Given the description of an element on the screen output the (x, y) to click on. 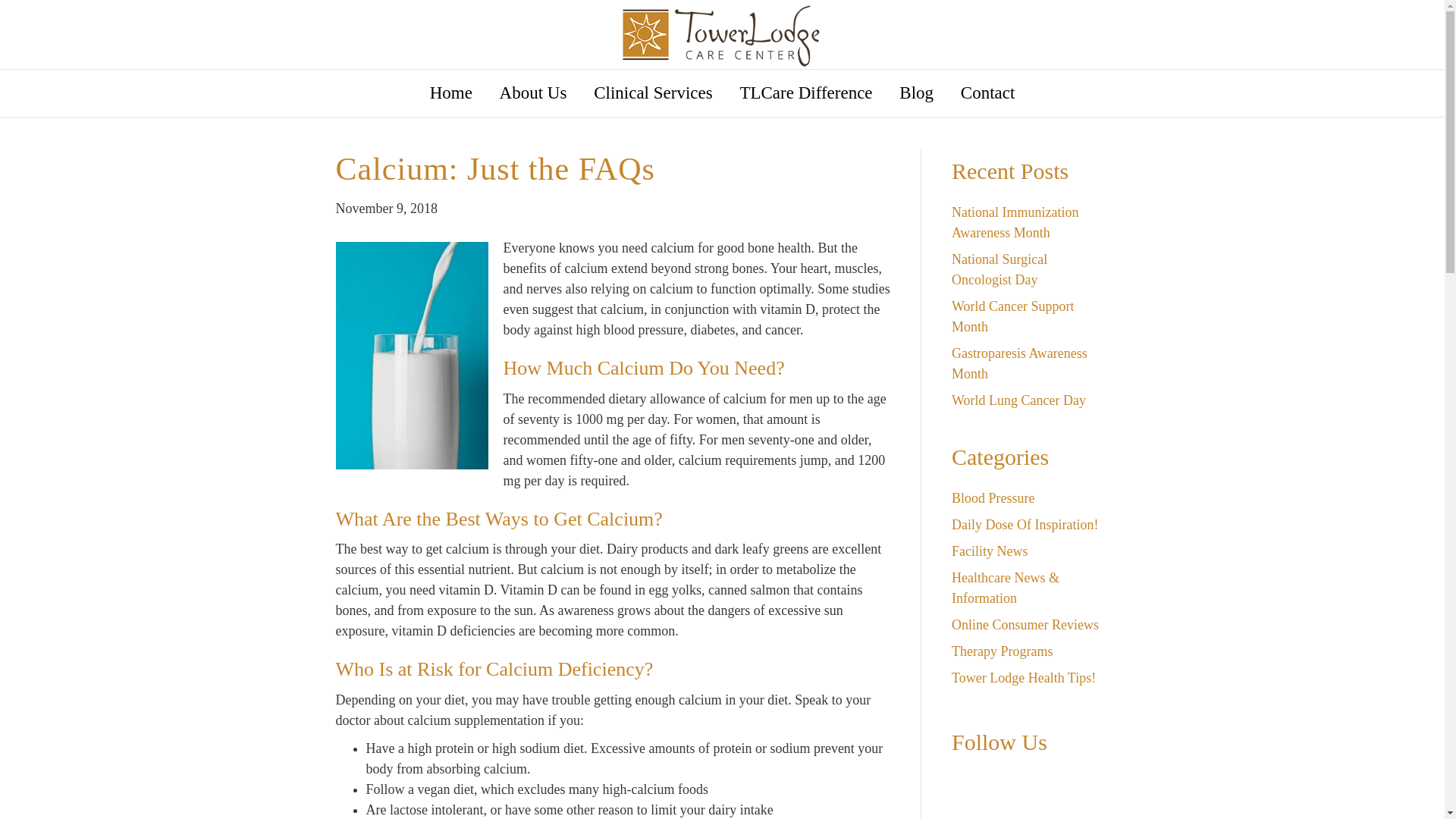
Contact (987, 93)
Blog (916, 93)
About Us (532, 93)
Home (451, 93)
TLCare Difference (805, 93)
Clinical Services (652, 93)
